Given the description of an element on the screen output the (x, y) to click on. 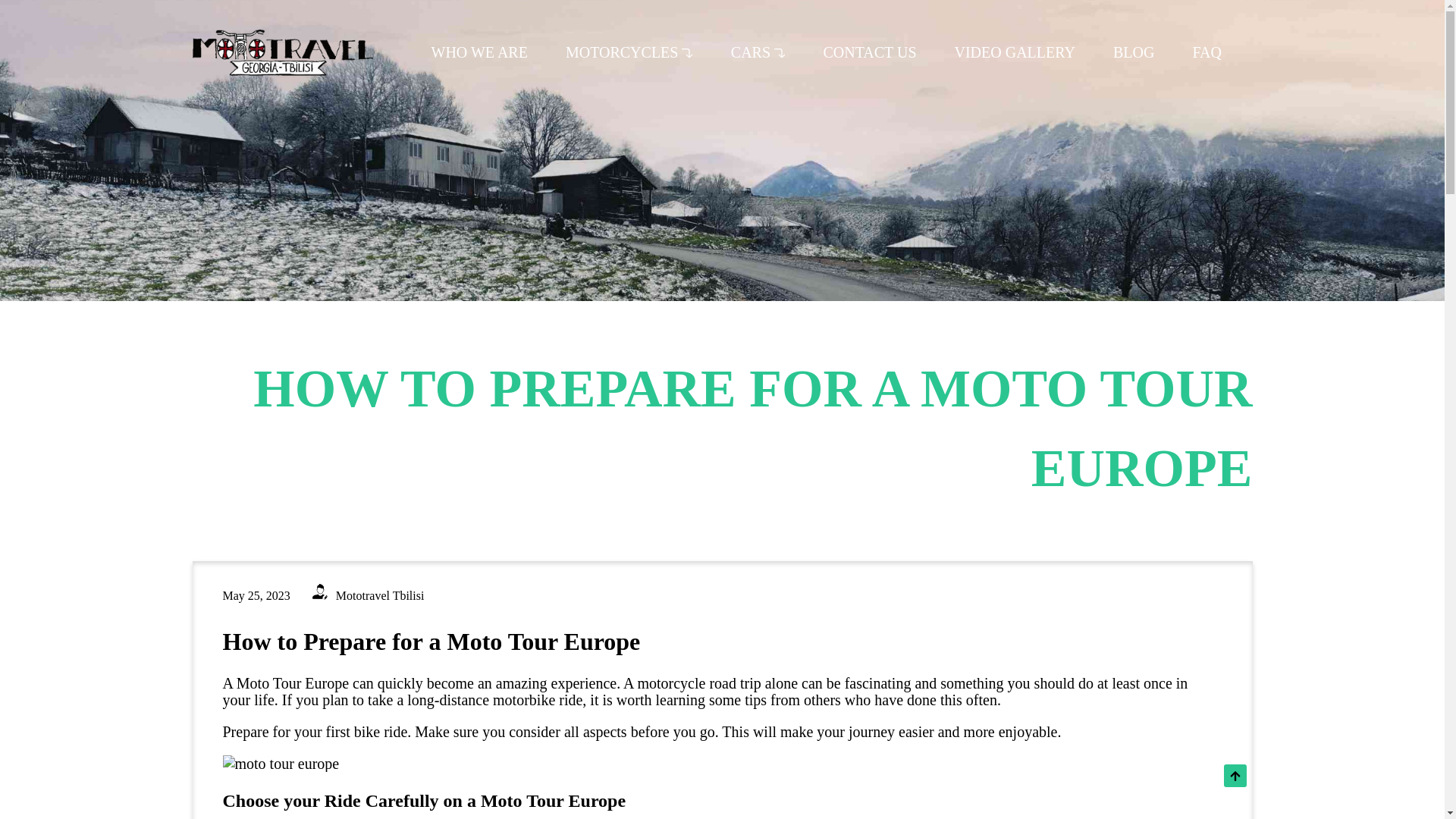
BLOG (1133, 51)
CONTACT US (868, 51)
VIDEO GALLERY (1013, 51)
WHO WE ARE (478, 51)
FAQ (1206, 51)
MOTORCYCLES (629, 51)
CARS (758, 51)
